Given the description of an element on the screen output the (x, y) to click on. 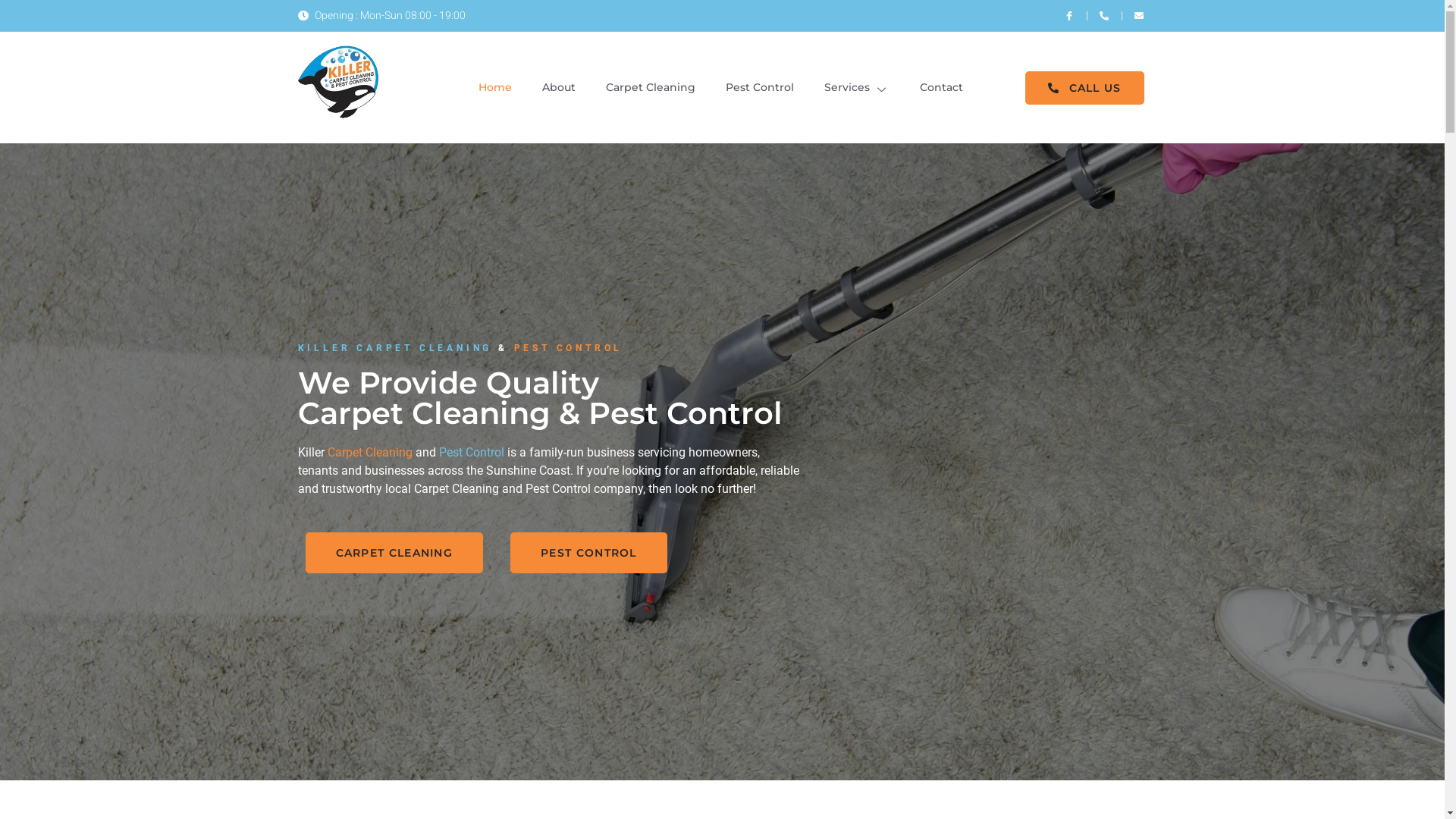
Carpet Cleaning Element type: text (650, 87)
CALL US Element type: text (1084, 87)
PEST CONTROL Element type: text (588, 552)
Pest Control Element type: text (759, 87)
About Element type: text (558, 87)
Home Element type: text (495, 87)
CARPET CLEANING Element type: text (393, 552)
Services Element type: text (856, 87)
Contact Element type: text (941, 87)
Carpet Cleaning Element type: text (369, 452)
est Control Element type: text (474, 452)
